Given the description of an element on the screen output the (x, y) to click on. 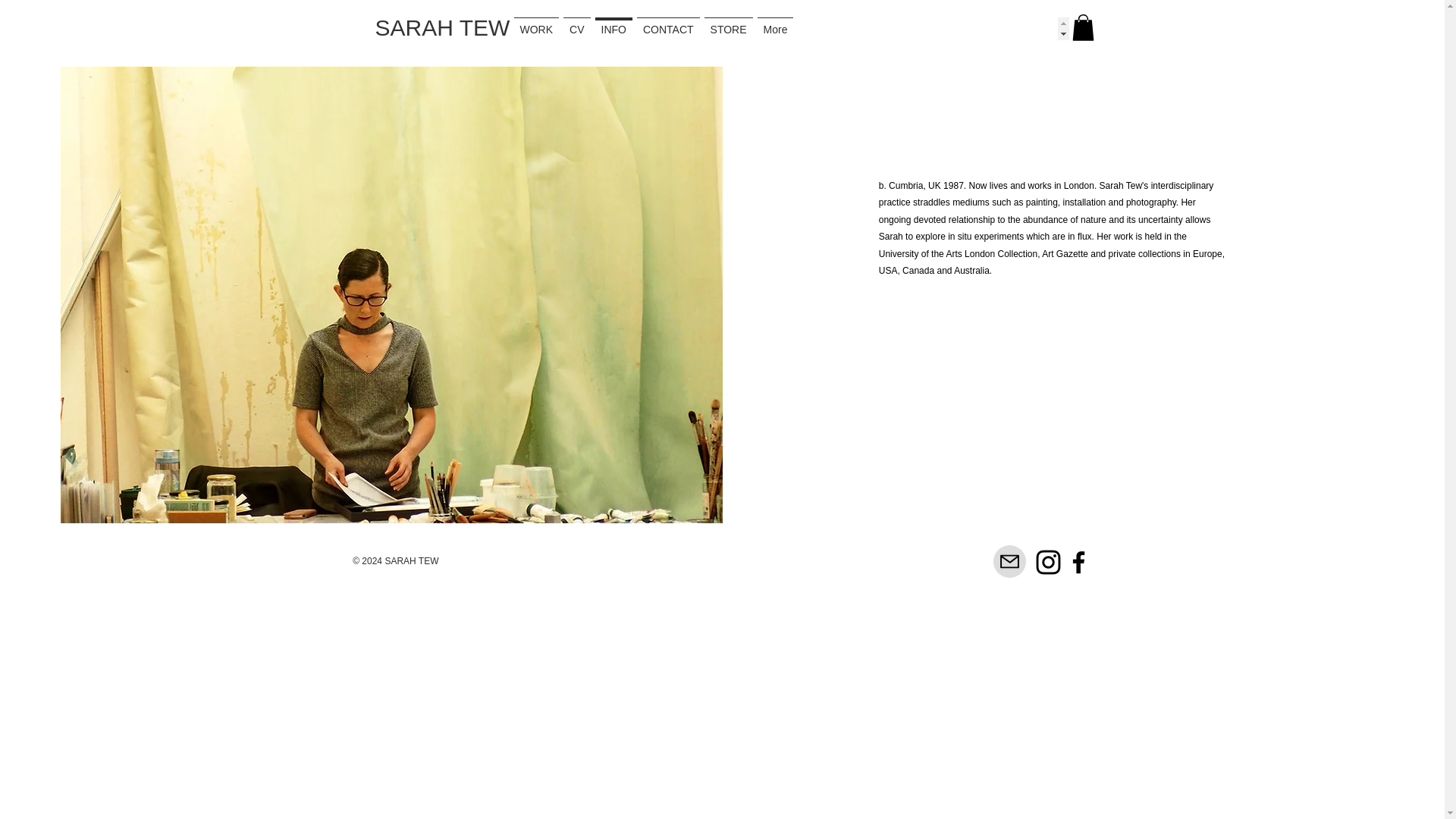
CONTACT (890, 28)
CV (671, 28)
STORE (1010, 28)
WORK (567, 28)
SARAH TEW (441, 27)
INFO (772, 28)
